Given the description of an element on the screen output the (x, y) to click on. 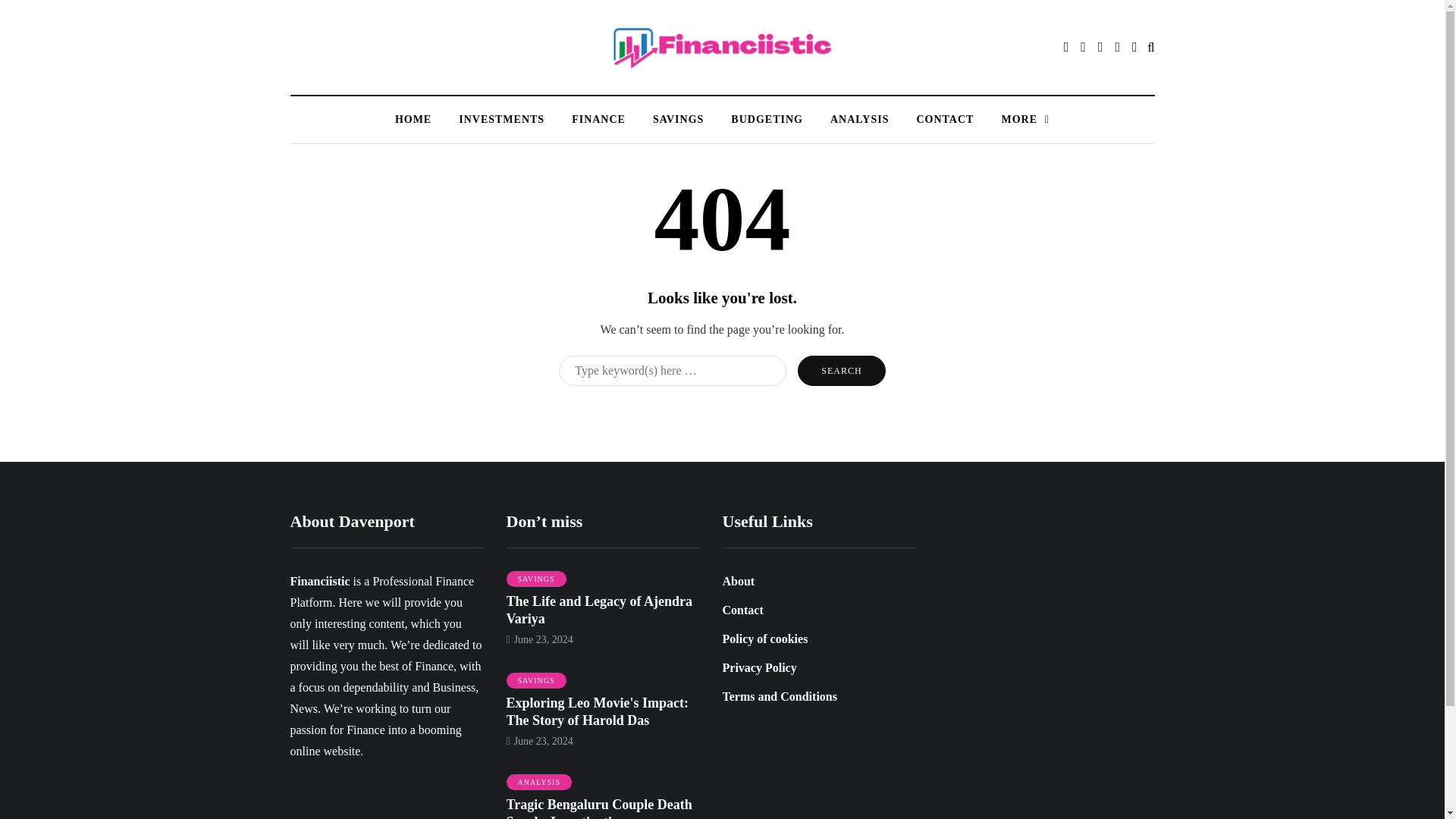
BUDGETING (766, 119)
INVESTMENTS (501, 119)
ANALYSIS (859, 119)
SAVINGS (678, 119)
Search (841, 370)
SAVINGS (536, 579)
HOME (413, 119)
Search (841, 370)
FINANCE (598, 119)
MORE (1024, 119)
CONTACT (944, 119)
